Given the description of an element on the screen output the (x, y) to click on. 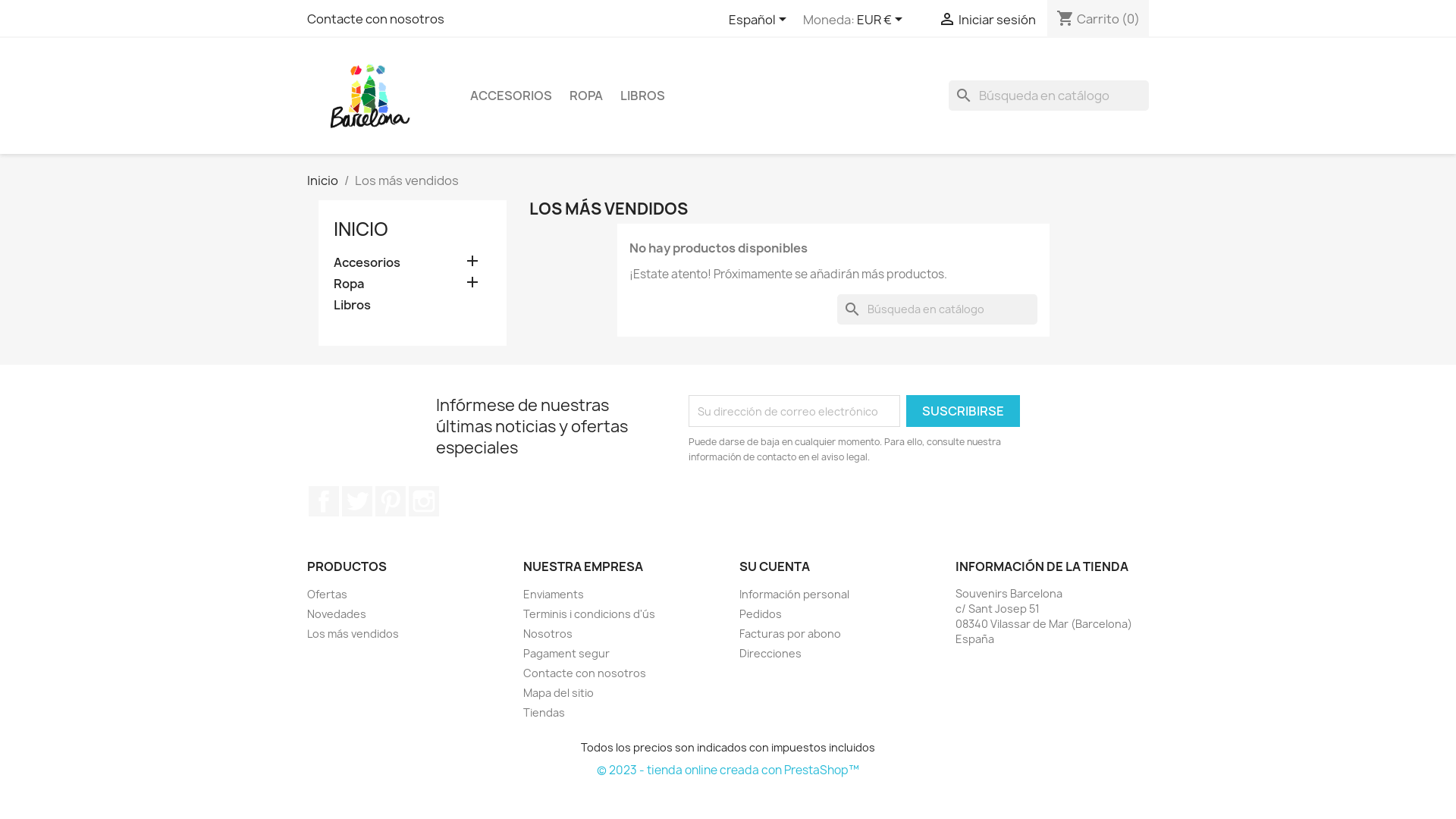
Pagament segur Element type: text (566, 653)
Facturas por abono Element type: text (789, 633)
INICIO Element type: text (360, 228)
Accesorios Element type: text (412, 263)
Direcciones Element type: text (770, 653)
Libros Element type: text (412, 305)
Pinterest Element type: text (390, 501)
Instagram Element type: text (423, 501)
LIBROS Element type: text (642, 95)
SU CUENTA Element type: text (774, 566)
Pedidos Element type: text (760, 613)
ROPA Element type: text (585, 95)
Suscribirse Element type: text (962, 410)
Nosotros Element type: text (547, 633)
Tiendas Element type: text (543, 712)
Novedades Element type: text (336, 613)
Mapa del sitio Element type: text (558, 692)
Contacte con nosotros Element type: text (584, 672)
Inicio Element type: text (322, 180)
Enviaments Element type: text (553, 593)
Facebook Element type: text (323, 501)
Contacte con nosotros Element type: text (375, 18)
Twitter Element type: text (357, 501)
ACCESORIOS Element type: text (510, 95)
Ofertas Element type: text (327, 593)
Ropa Element type: text (412, 284)
